Given the description of an element on the screen output the (x, y) to click on. 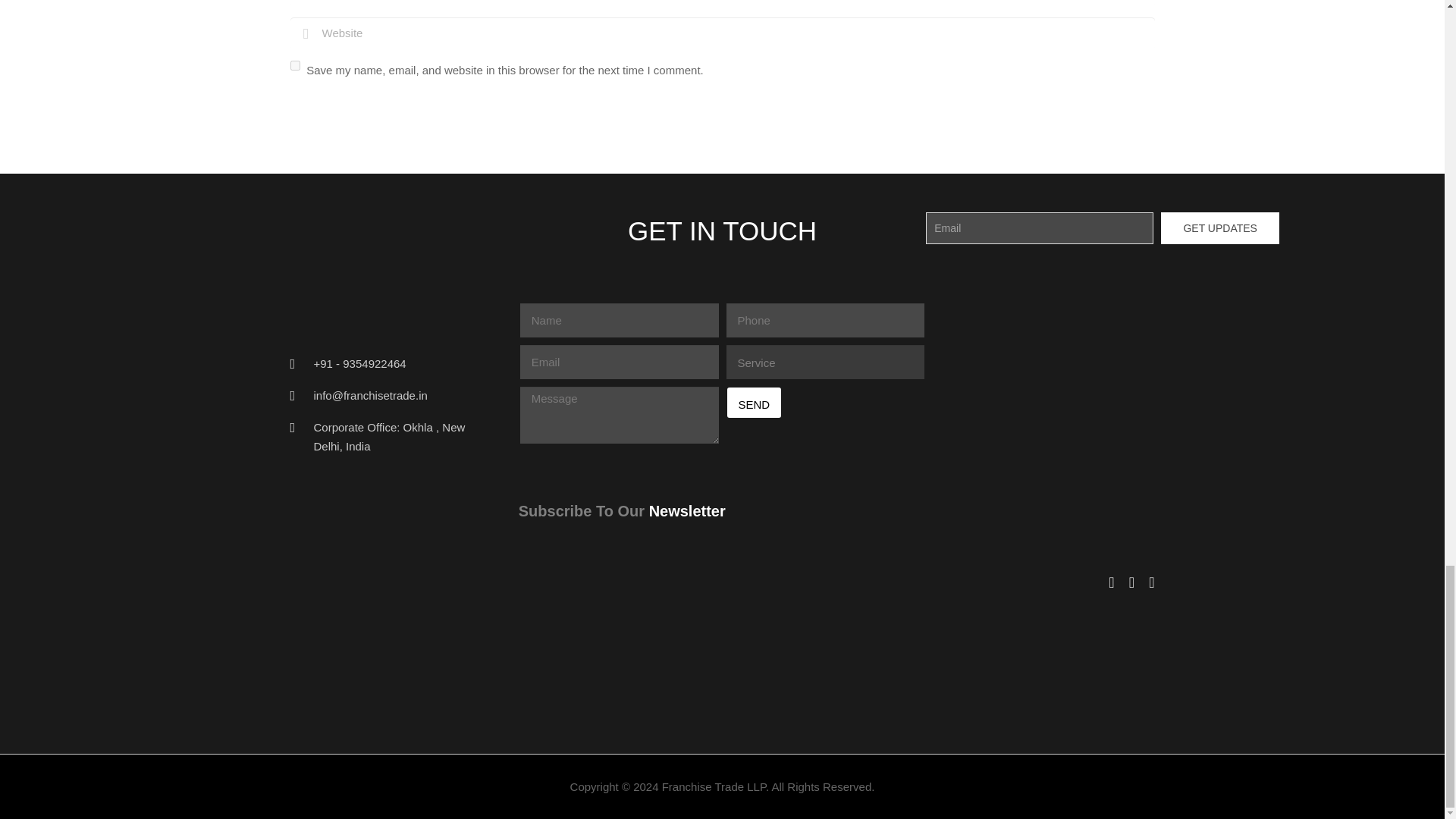
Post Comment (347, 111)
SEND (753, 402)
GET UPDATES (1219, 228)
Post Comment (347, 111)
justdial (1070, 707)
GET UPDATES (1219, 228)
Corporate Office: Okhla , New Delhi, India (389, 436)
SEND (753, 402)
yes (294, 65)
